Given the description of an element on the screen output the (x, y) to click on. 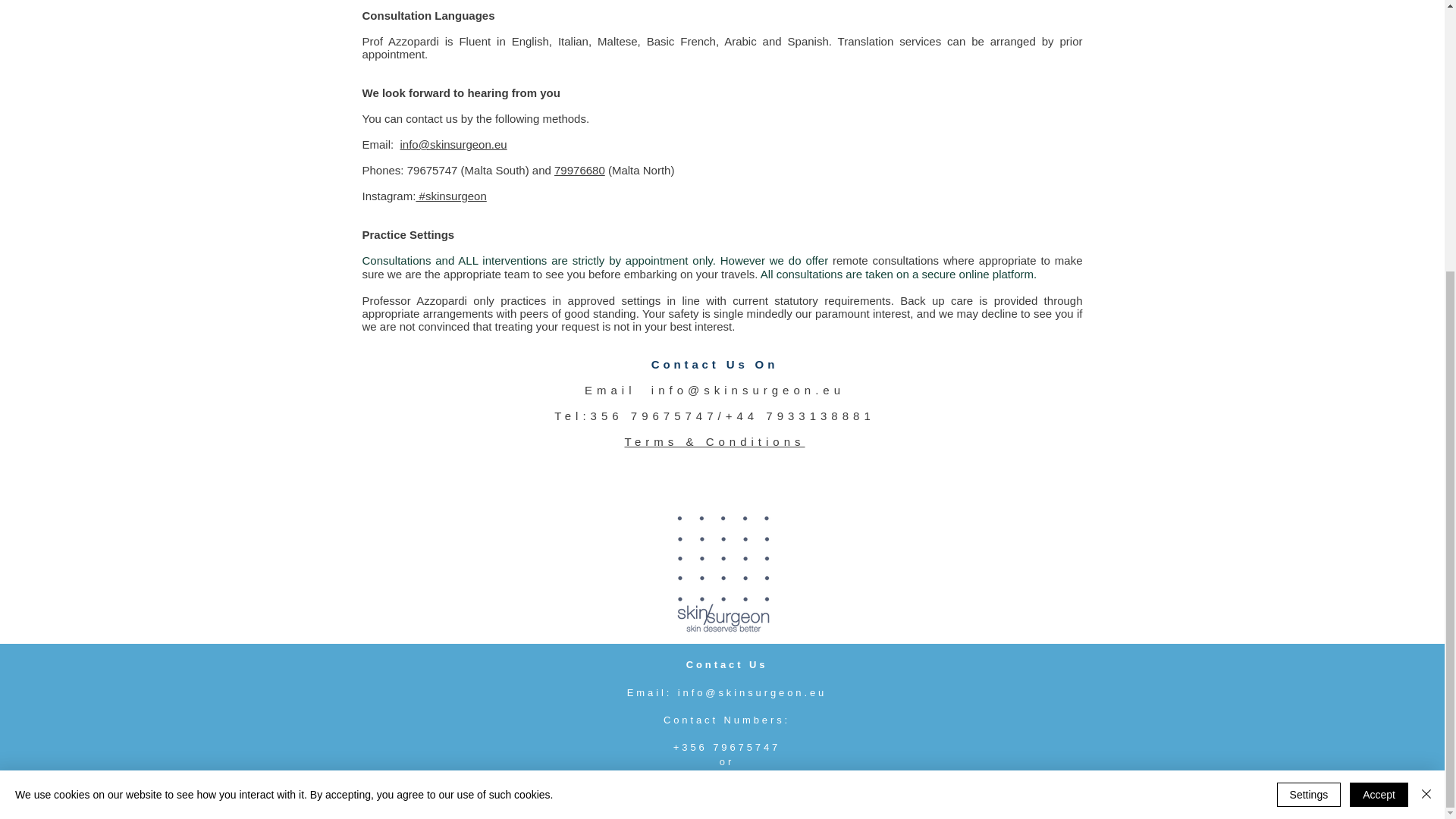
79976680 (579, 169)
Accept (1378, 396)
Settings (1308, 396)
